Given the description of an element on the screen output the (x, y) to click on. 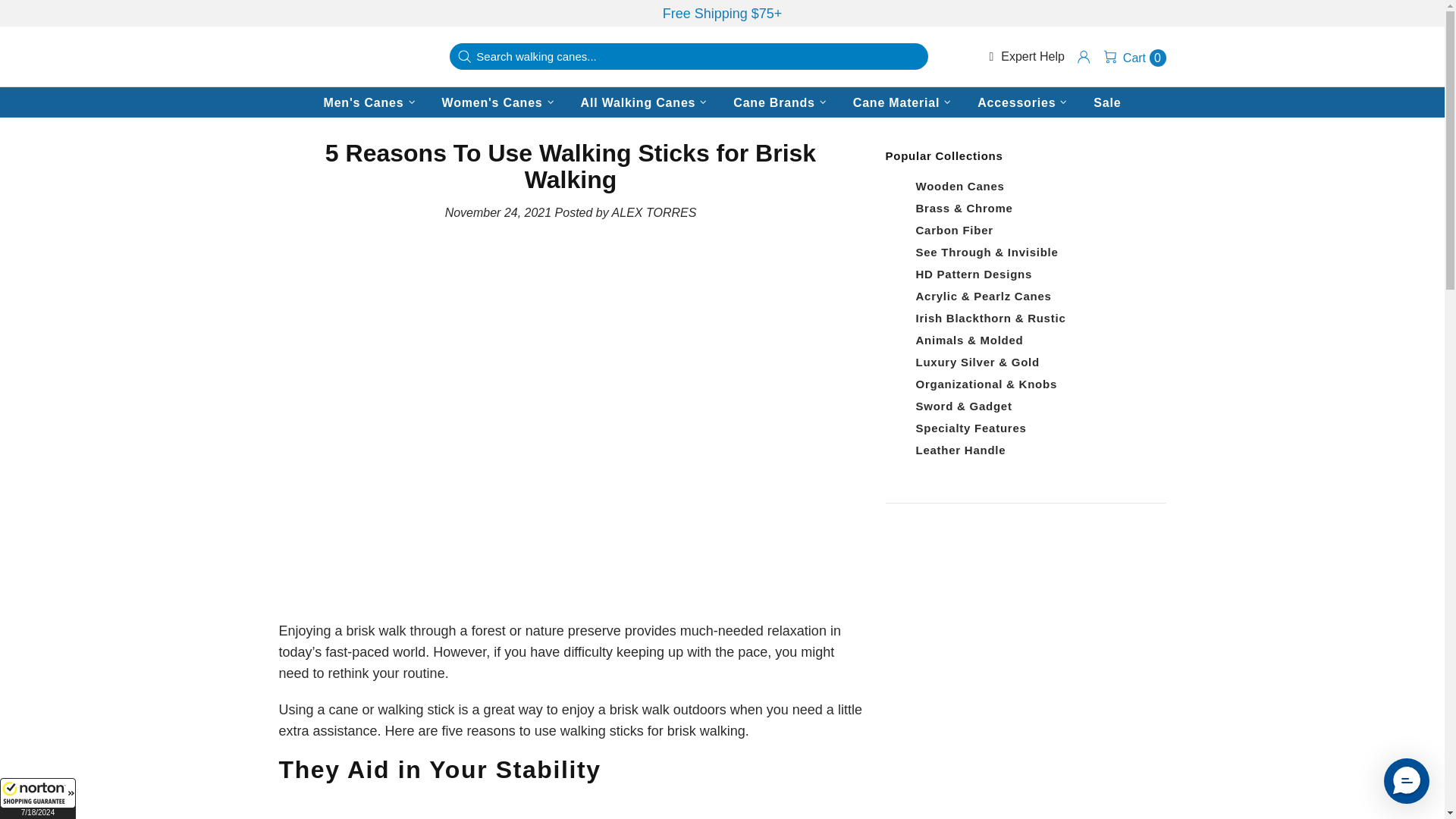
Fashionable Canes (346, 56)
Men's Canes (370, 101)
Expert Help (1026, 56)
Cart 0 (1134, 55)
Unused iFrame 1 (37, 798)
